Given the description of an element on the screen output the (x, y) to click on. 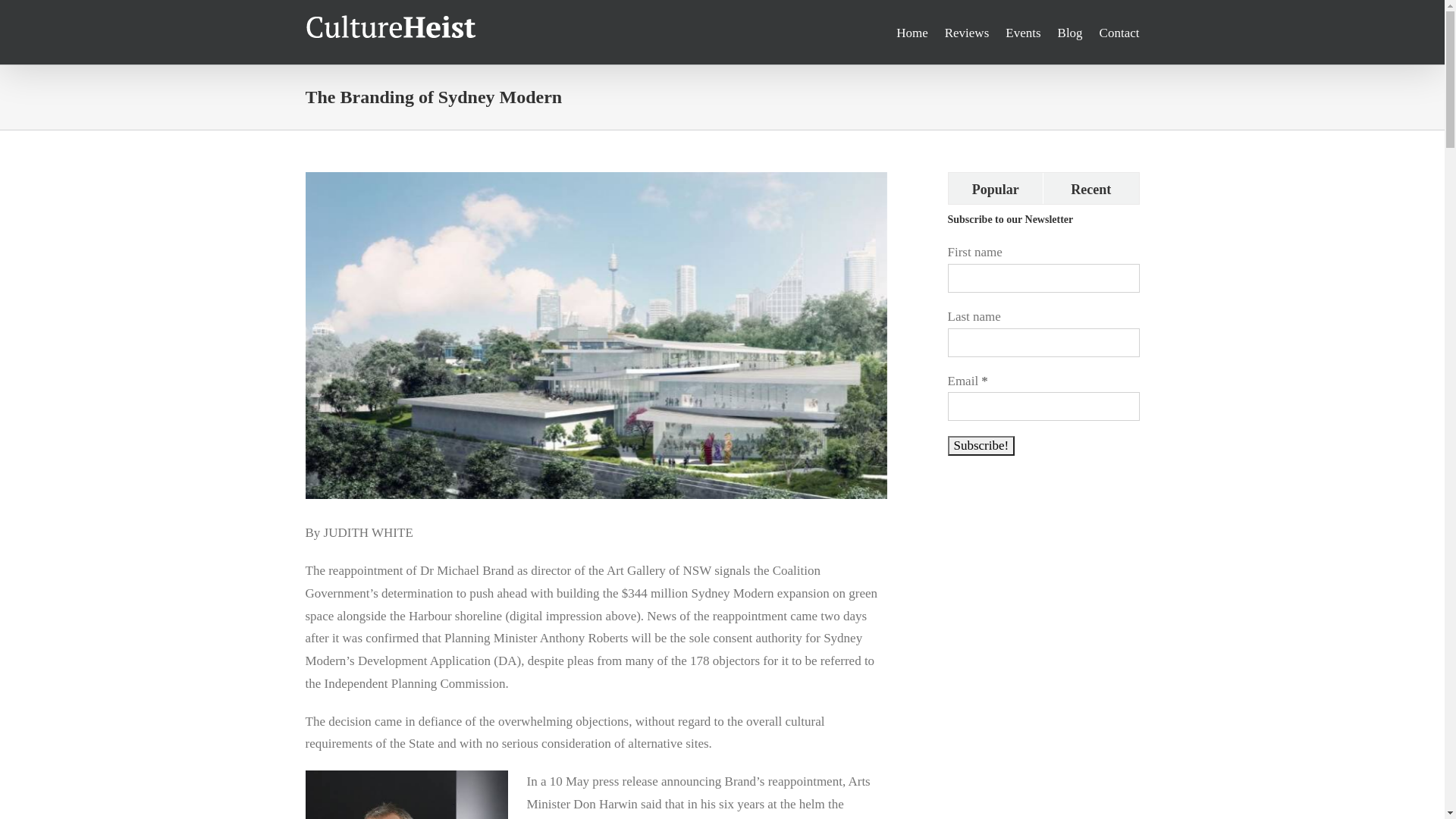
Contact Element type: text (1119, 32)
Recent Element type: text (1091, 187)
Email Element type: hover (1043, 406)
First name Element type: hover (1043, 277)
View Larger Image Element type: text (595, 335)
Subscribe! Element type: text (981, 445)
Home Element type: text (912, 32)
Events Element type: text (1022, 32)
Last name Element type: hover (1043, 342)
Blog Element type: text (1069, 32)
Popular Element type: text (994, 187)
Reviews Element type: text (966, 32)
